Given the description of an element on the screen output the (x, y) to click on. 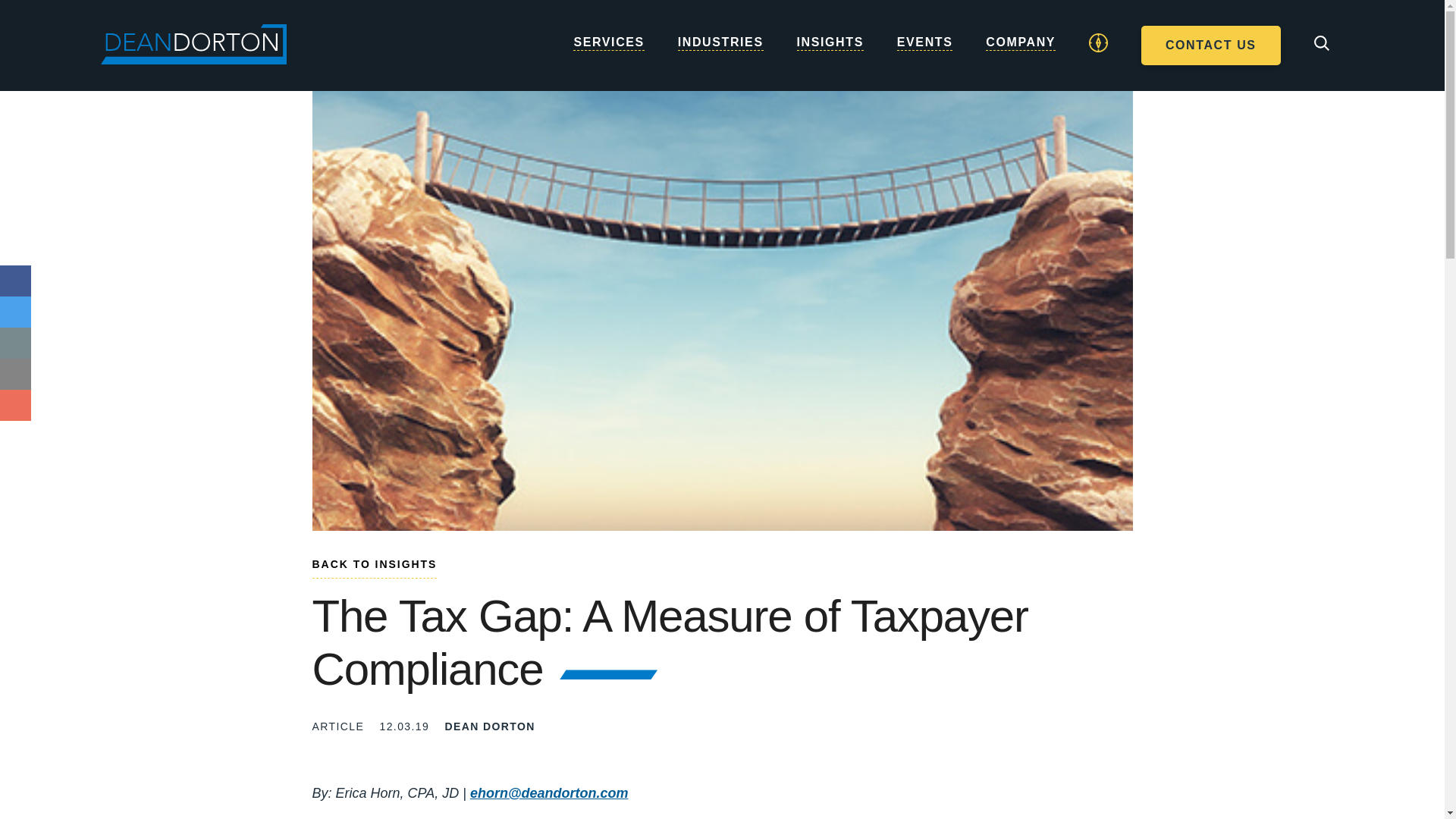
SERVICES (608, 57)
Go to Insights. (375, 567)
